Given the description of an element on the screen output the (x, y) to click on. 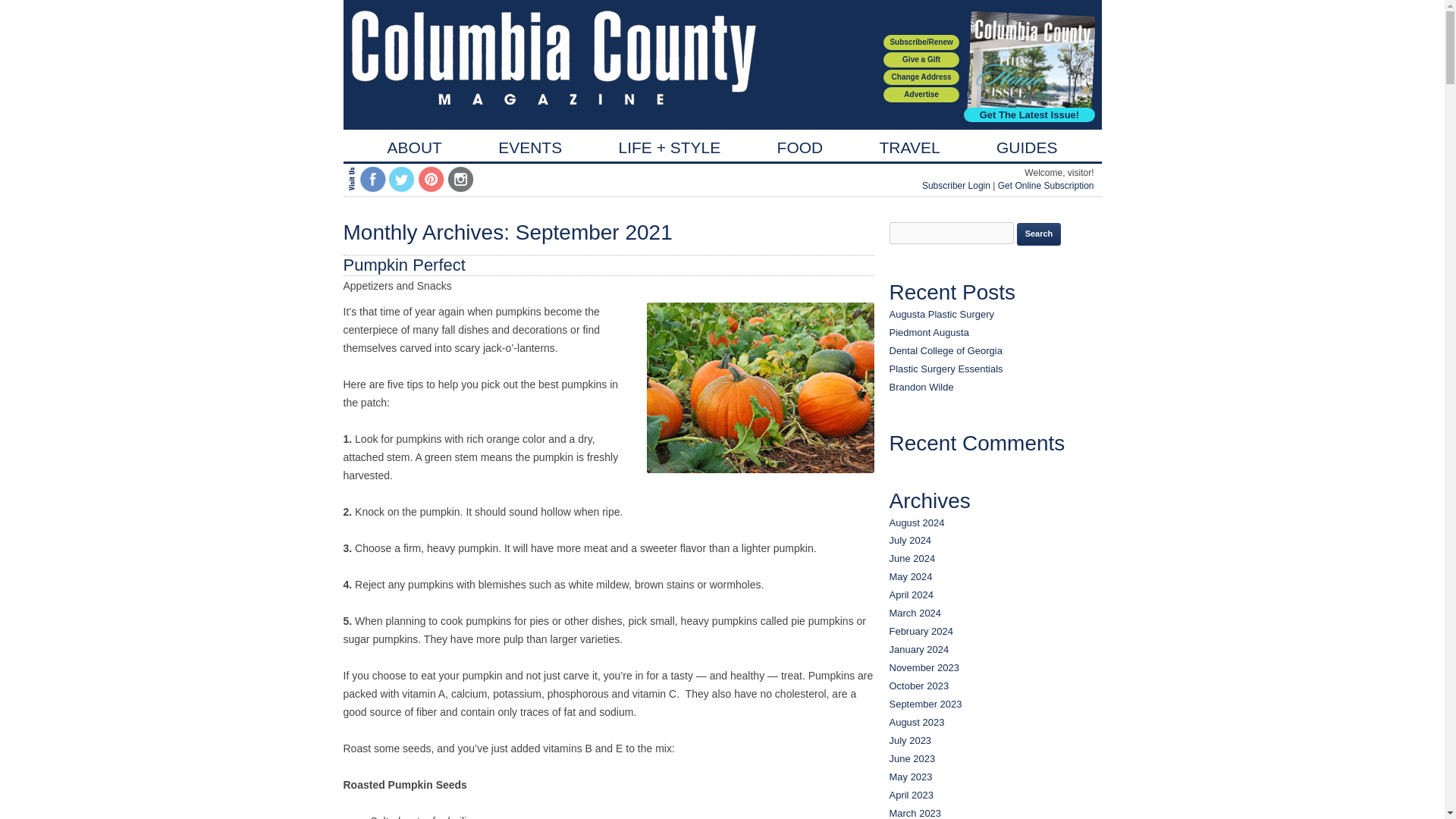
Change Address (921, 76)
Columbia County Magazine (554, 62)
Columbia County Magazine - Pinterest (430, 179)
Advertise (921, 94)
Columbia County Magazine - Facebook (372, 179)
Columbia County Magazine - Instagram (460, 179)
Search (1038, 233)
Columbia County Magazine - Twitter (401, 179)
EVENTS (529, 146)
Skip to content (757, 134)
